Given the description of an element on the screen output the (x, y) to click on. 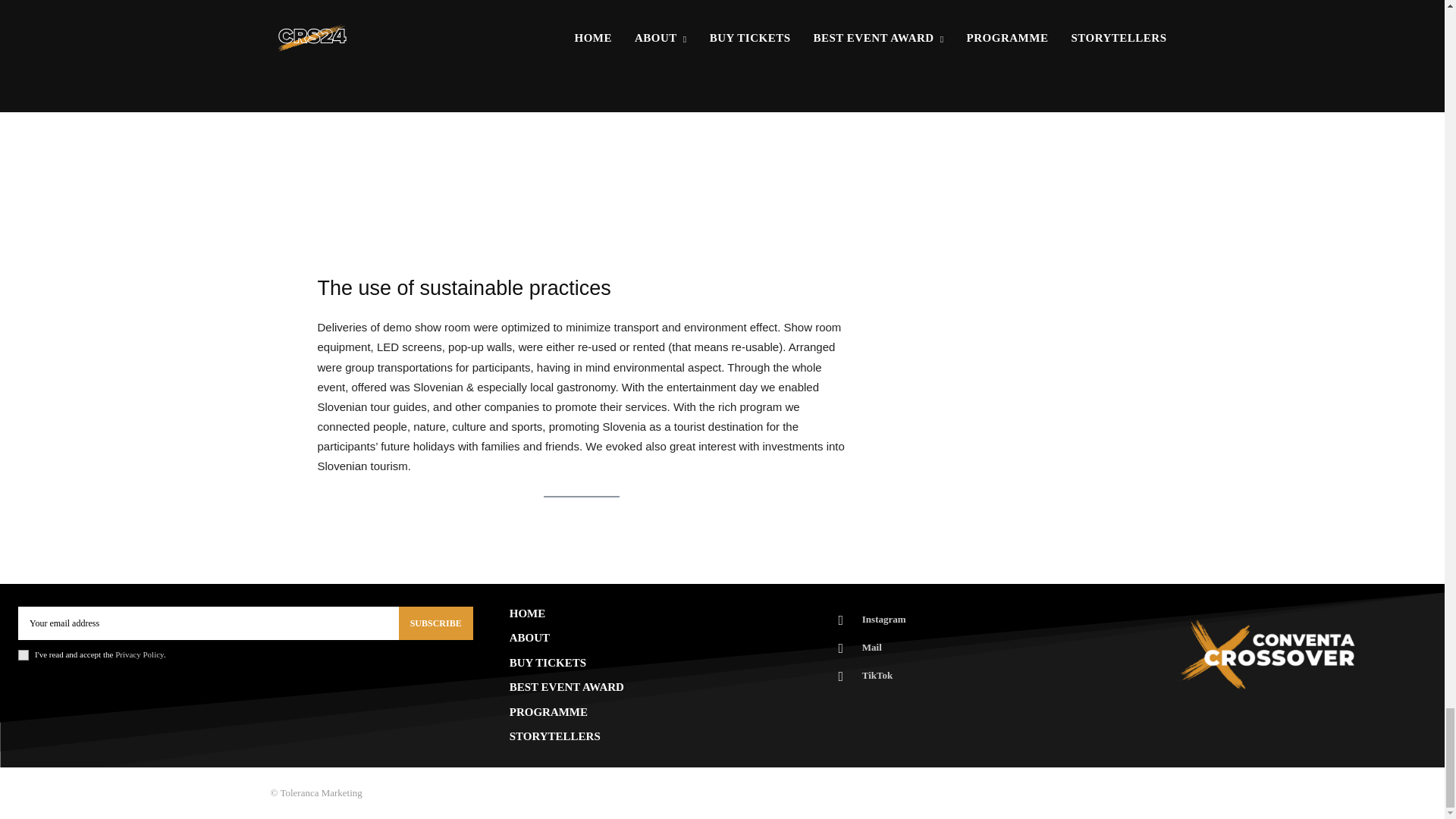
TikTok (840, 676)
Mail (840, 647)
Instagram (840, 619)
